Given the description of an element on the screen output the (x, y) to click on. 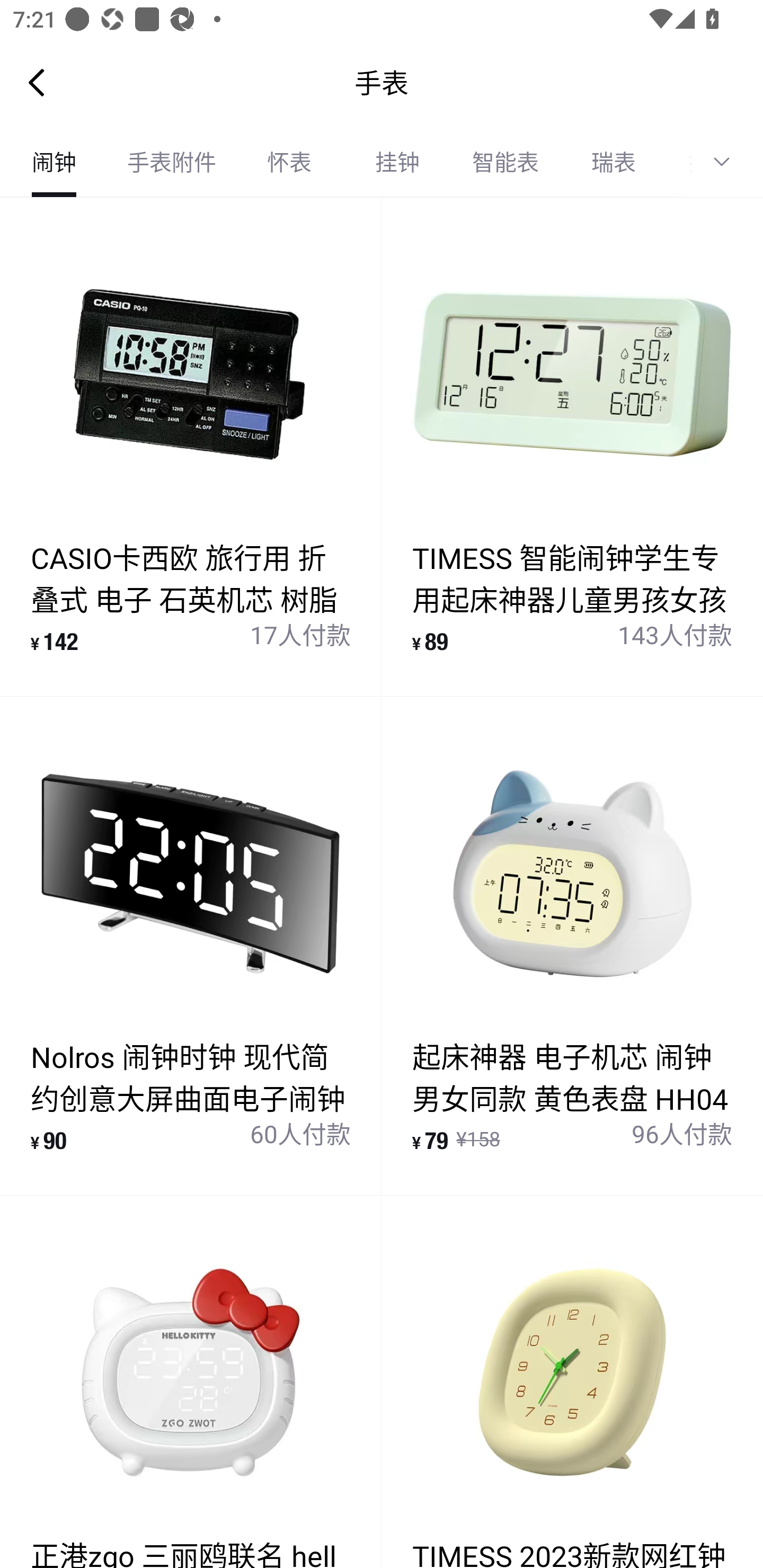
Navigate up (36, 82)
闹钟 (54, 162)
手表附件 (171, 162)
怀表 (289, 162)
挂钟 (397, 162)
智能表 (505, 162)
瑞表 (613, 162)
 (727, 162)
起床神器 电子机芯 闹钟 
男女同款 黄色表盘 HH04
猫咪款 ¥ 79 ¥158 96人付款 (572, 945)
